Given the description of an element on the screen output the (x, y) to click on. 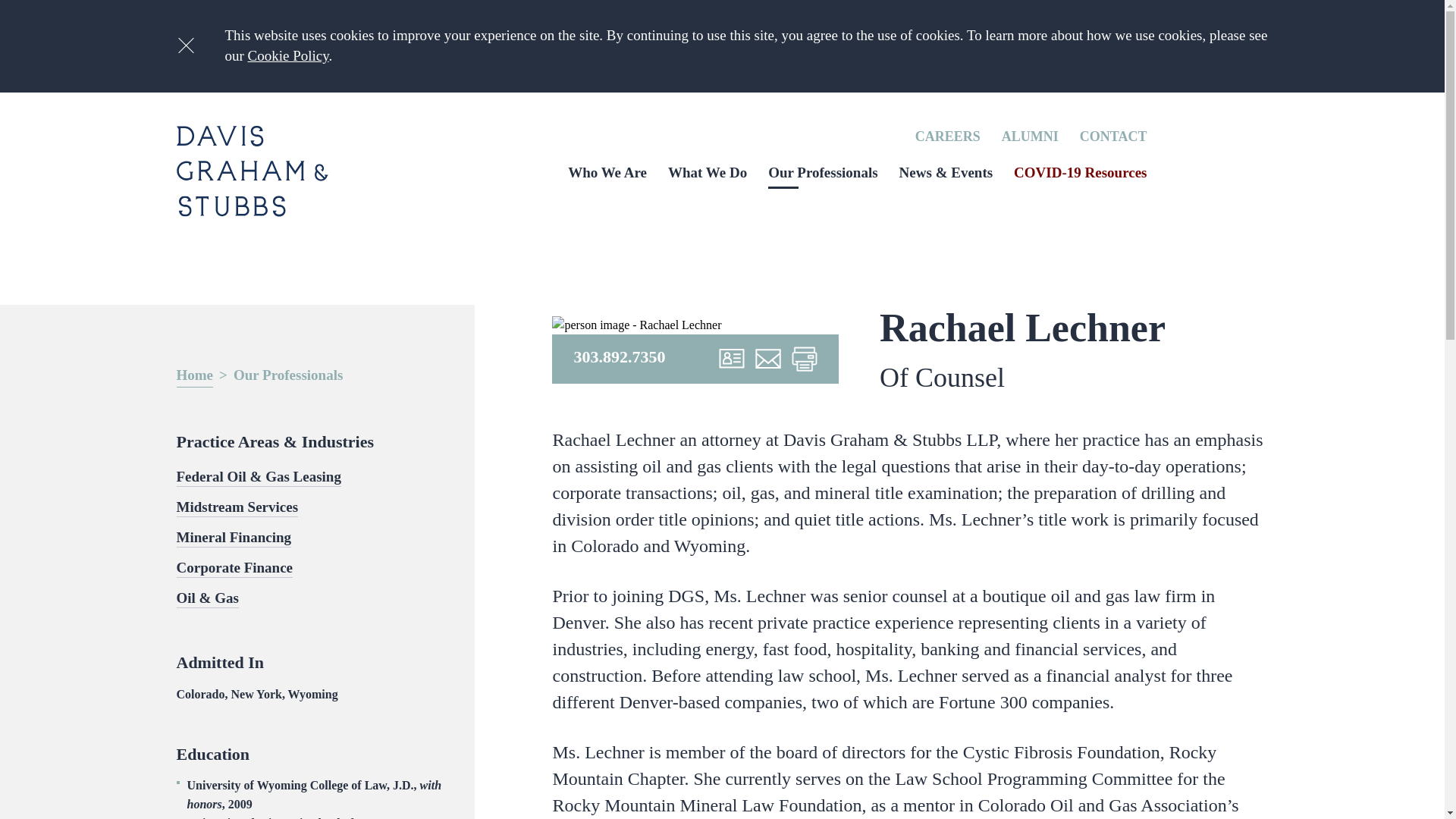
Our Professionals (287, 376)
Our Professionals (822, 172)
CAREERS (947, 136)
Home (194, 376)
COVID-19 Resources (1080, 172)
ALUMNI (1029, 136)
Mineral Financing (232, 538)
Midstream Services (237, 507)
Corporate Finance (234, 568)
CONTACT (1113, 136)
